Given the description of an element on the screen output the (x, y) to click on. 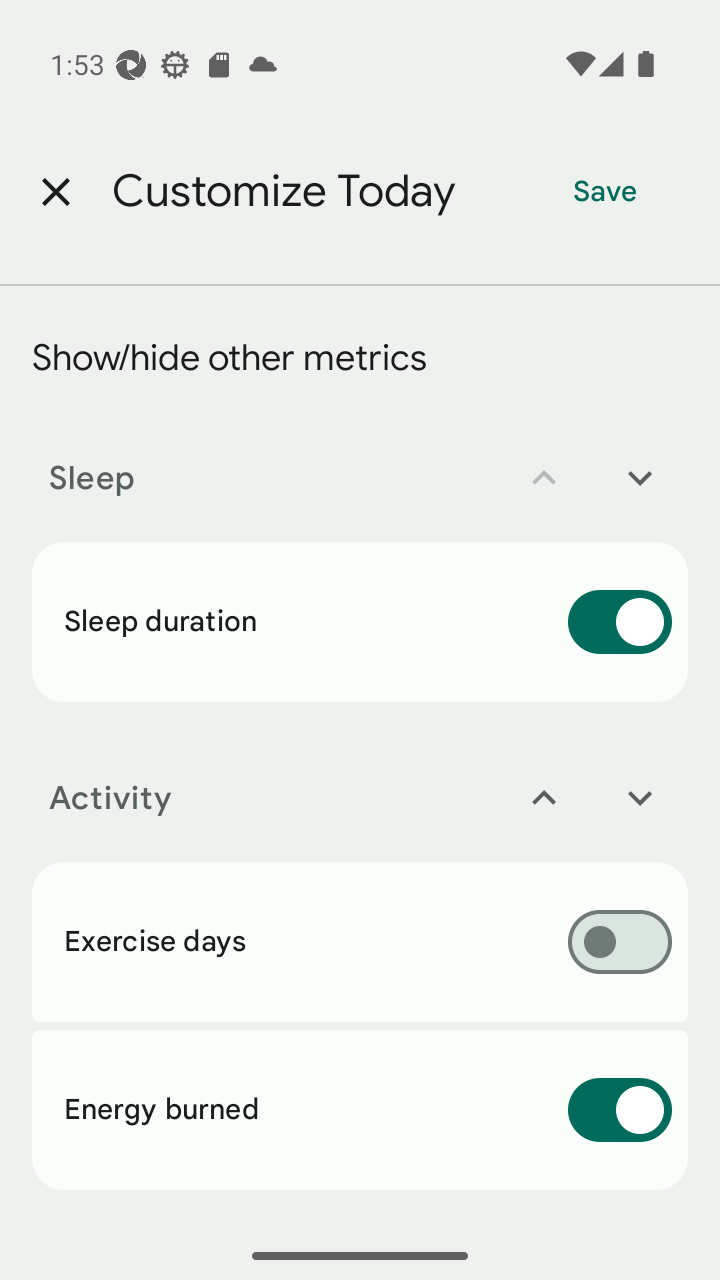
Close (55, 191)
Save (605, 191)
Move Sleep up (543, 478)
Move Sleep down (639, 478)
Sleep duration (359, 621)
Move Activity up (543, 798)
Move Activity down (639, 798)
Exercise days (359, 941)
Energy burned (359, 1110)
